Given the description of an element on the screen output the (x, y) to click on. 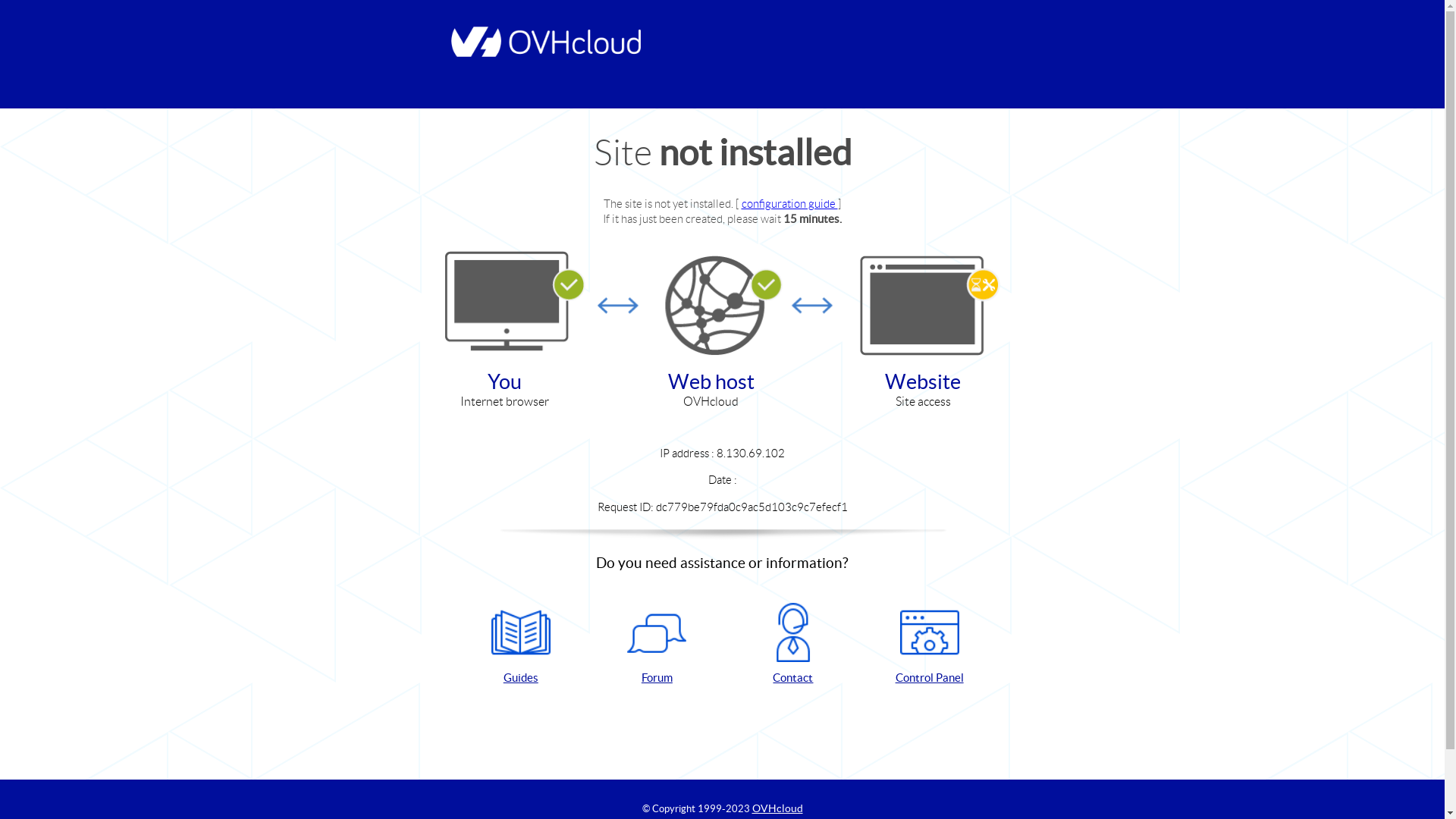
Contact Element type: text (792, 644)
configuration guide Element type: text (789, 203)
OVHcloud Element type: text (777, 808)
Forum Element type: text (656, 644)
Control Panel Element type: text (929, 644)
Guides Element type: text (520, 644)
